Given the description of an element on the screen output the (x, y) to click on. 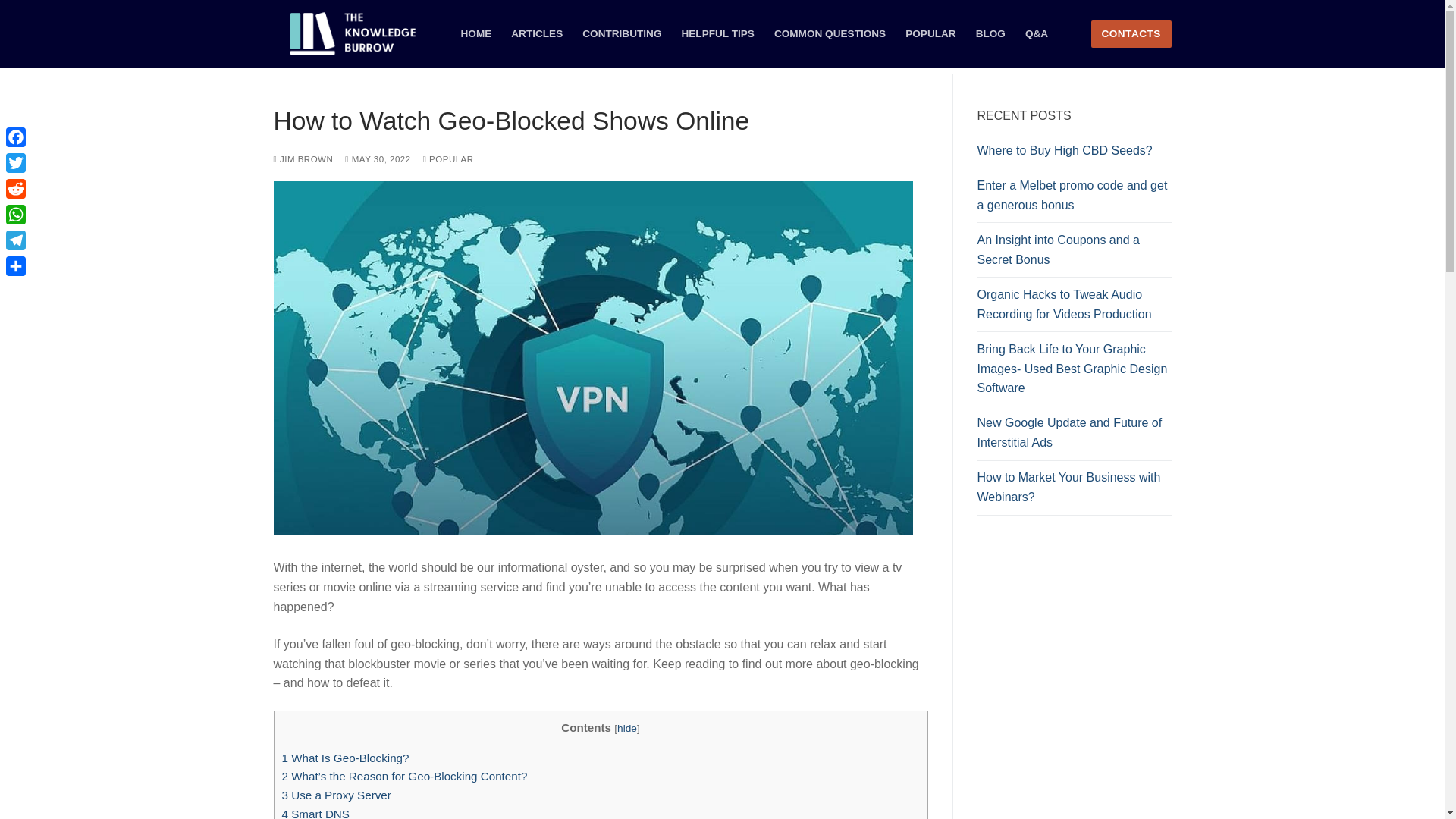
Enter a Melbet promo code and get a generous bonus (1073, 199)
BLOG (990, 33)
POPULAR (930, 33)
Facebook (15, 136)
Where to Buy High CBD Seeds? (1073, 154)
3 Use a Proxy Server (336, 794)
hide (627, 727)
COMMON QUESTIONS (829, 33)
HELPFUL TIPS (716, 33)
MAY 30, 2022 (377, 158)
